Given the description of an element on the screen output the (x, y) to click on. 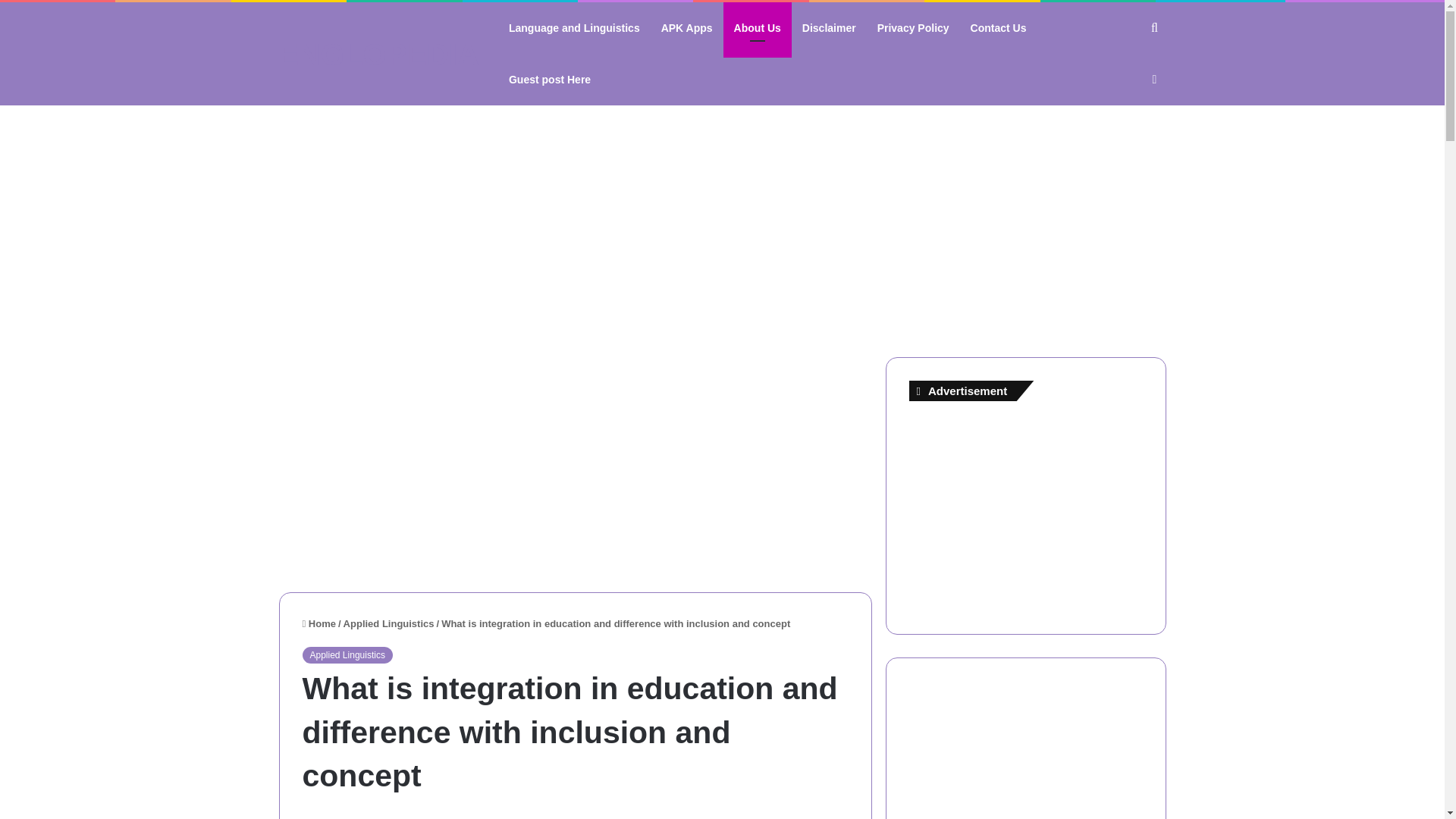
Privacy Policy (912, 28)
ENGLOPEDIA (379, 53)
Home (317, 623)
Contact Us (997, 28)
APK Apps (686, 28)
Language and Linguistics (573, 28)
About Us (757, 28)
Applied Linguistics (388, 623)
Disclaimer (829, 28)
Applied Linguistics (346, 655)
Advertisement (575, 463)
Guest post Here (549, 79)
ENGLOPEDIA (379, 53)
